Given the description of an element on the screen output the (x, y) to click on. 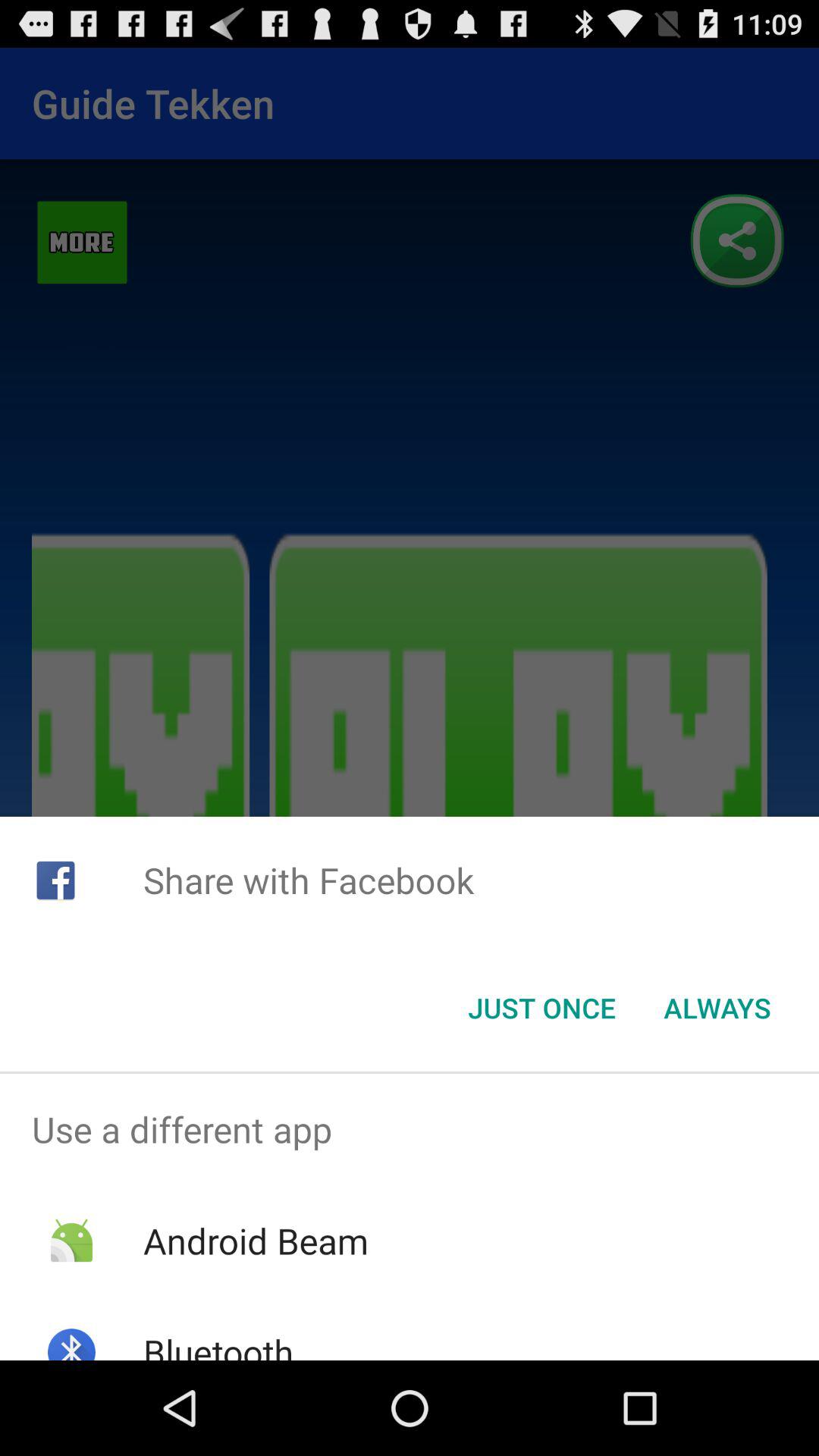
launch just once (541, 1007)
